Given the description of an element on the screen output the (x, y) to click on. 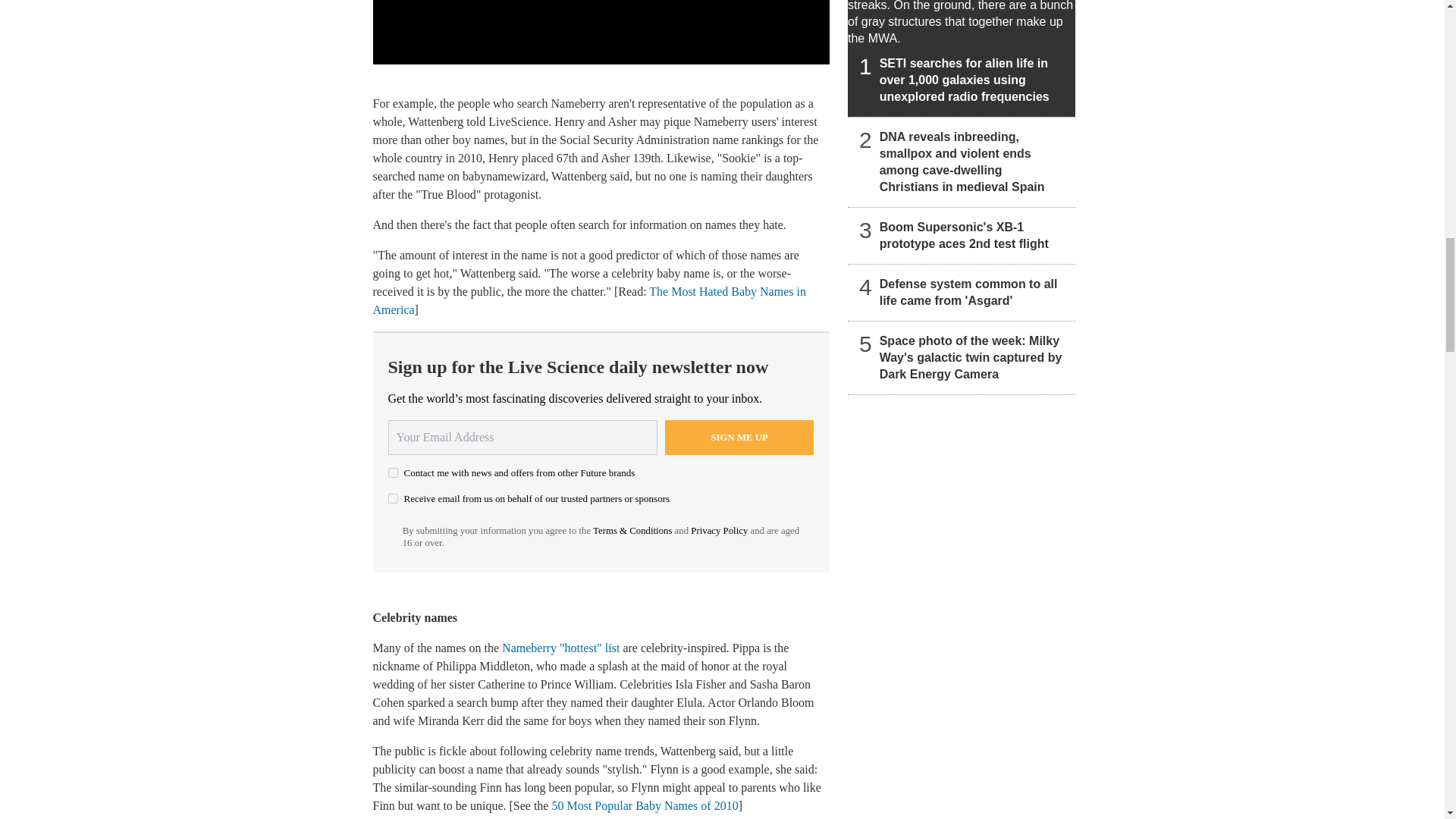
on (392, 498)
on (392, 472)
Sign me up (739, 437)
